Given the description of an element on the screen output the (x, y) to click on. 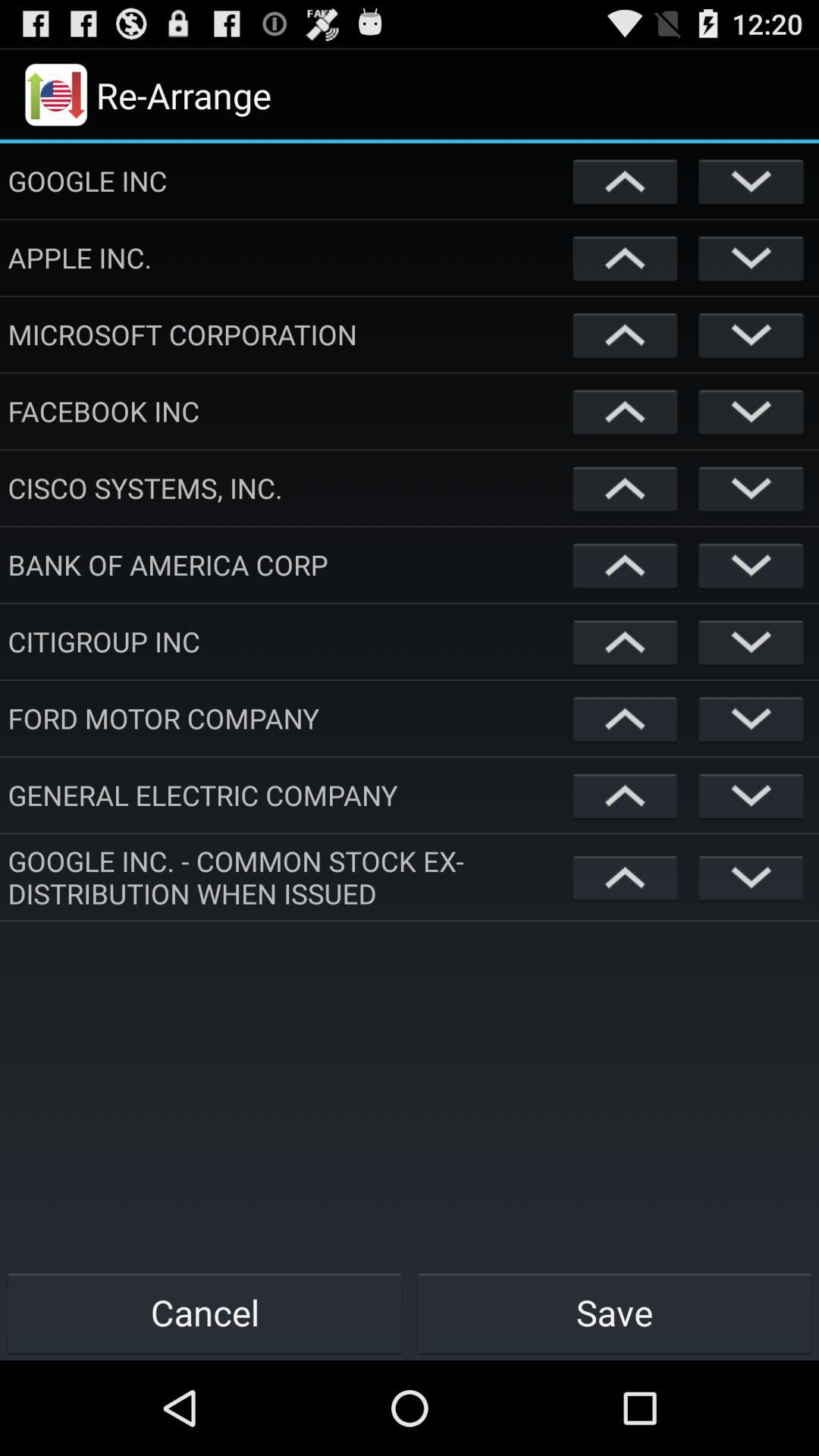
see more (751, 641)
